Given the description of an element on the screen output the (x, y) to click on. 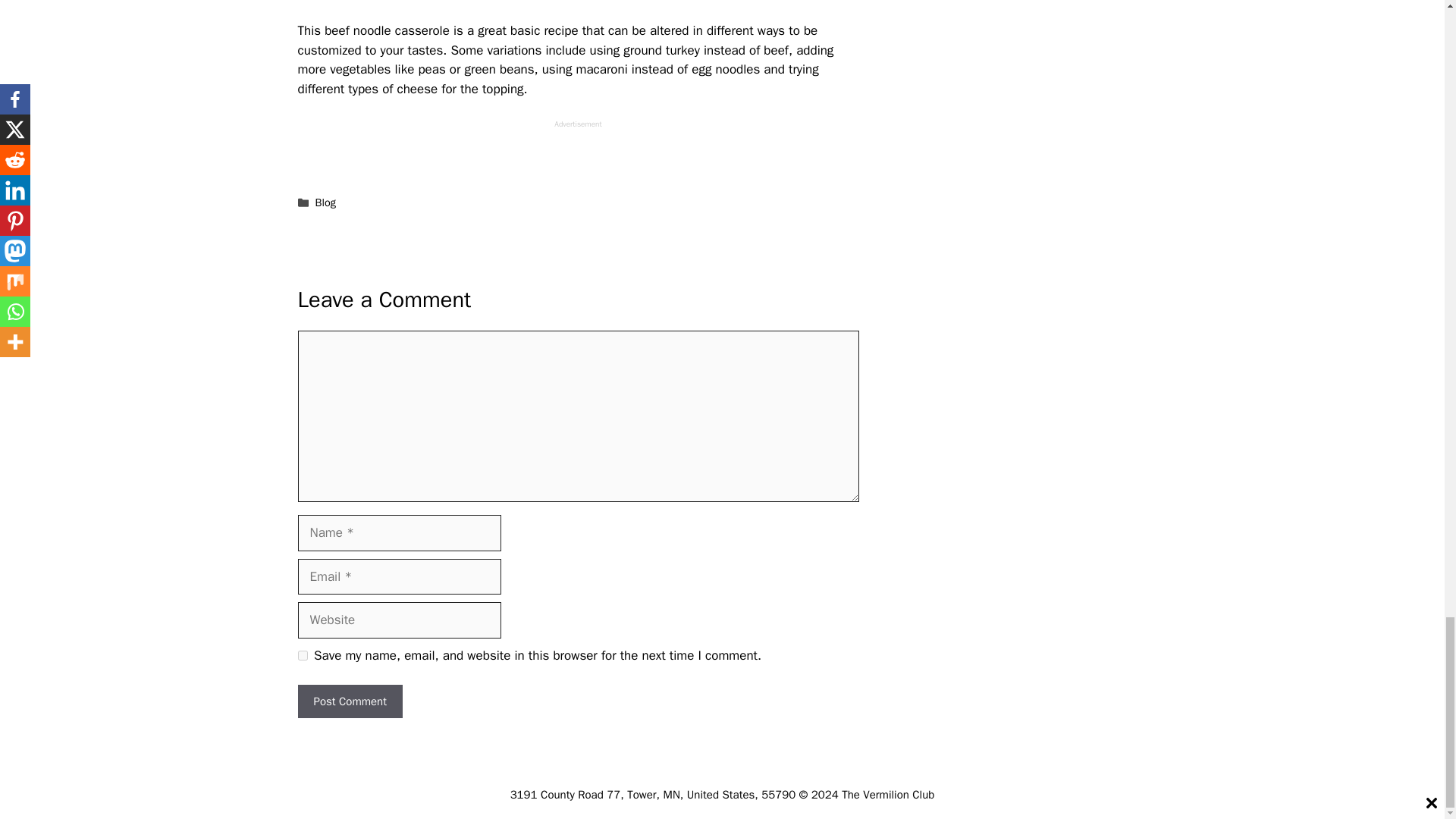
yes (302, 655)
Post Comment (349, 701)
Post Comment (349, 701)
Blog (325, 202)
